Given the description of an element on the screen output the (x, y) to click on. 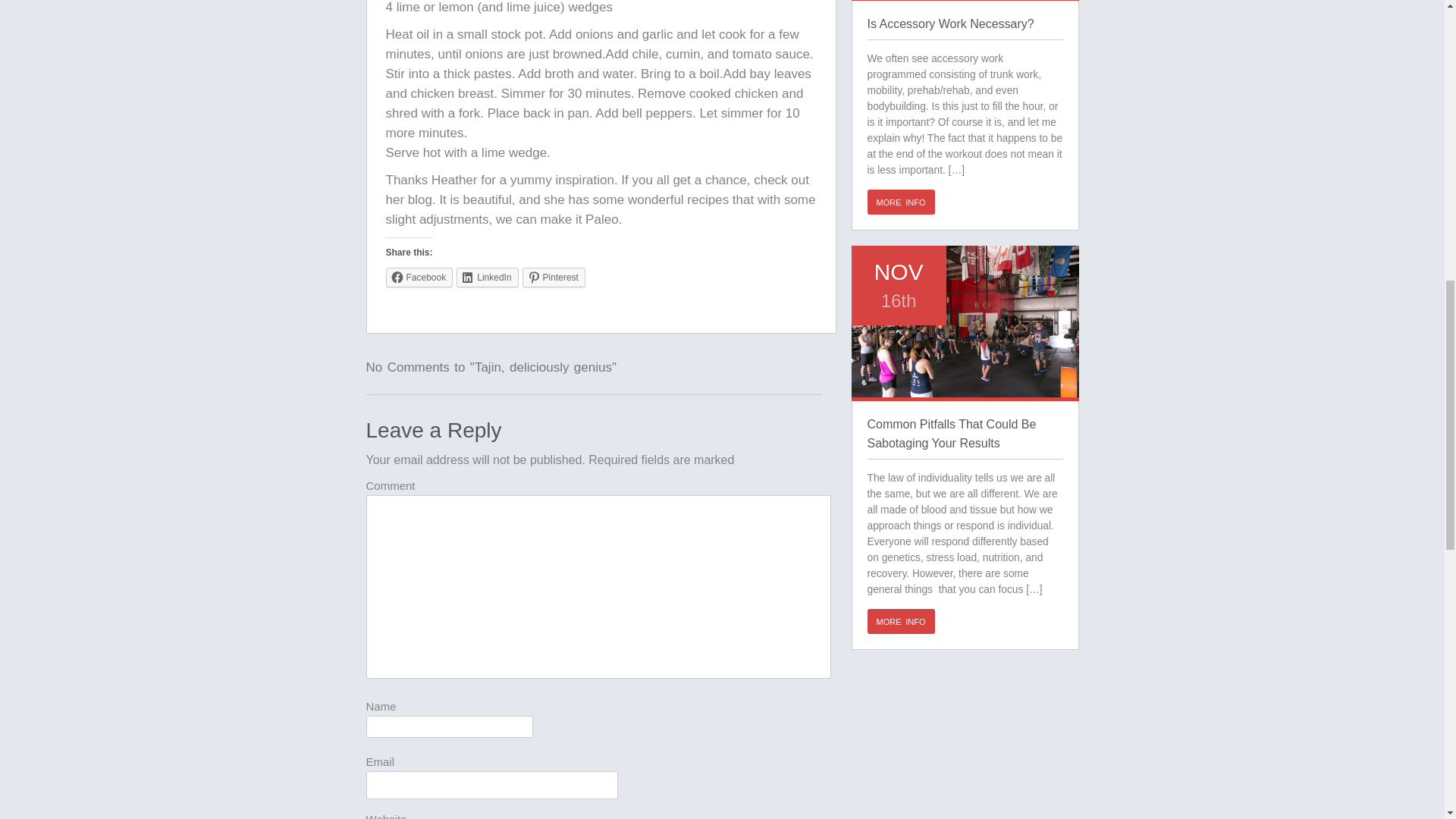
Click to share on LinkedIn (487, 277)
Click to share on Facebook (418, 277)
Click to share on Pinterest (553, 277)
